Given the description of an element on the screen output the (x, y) to click on. 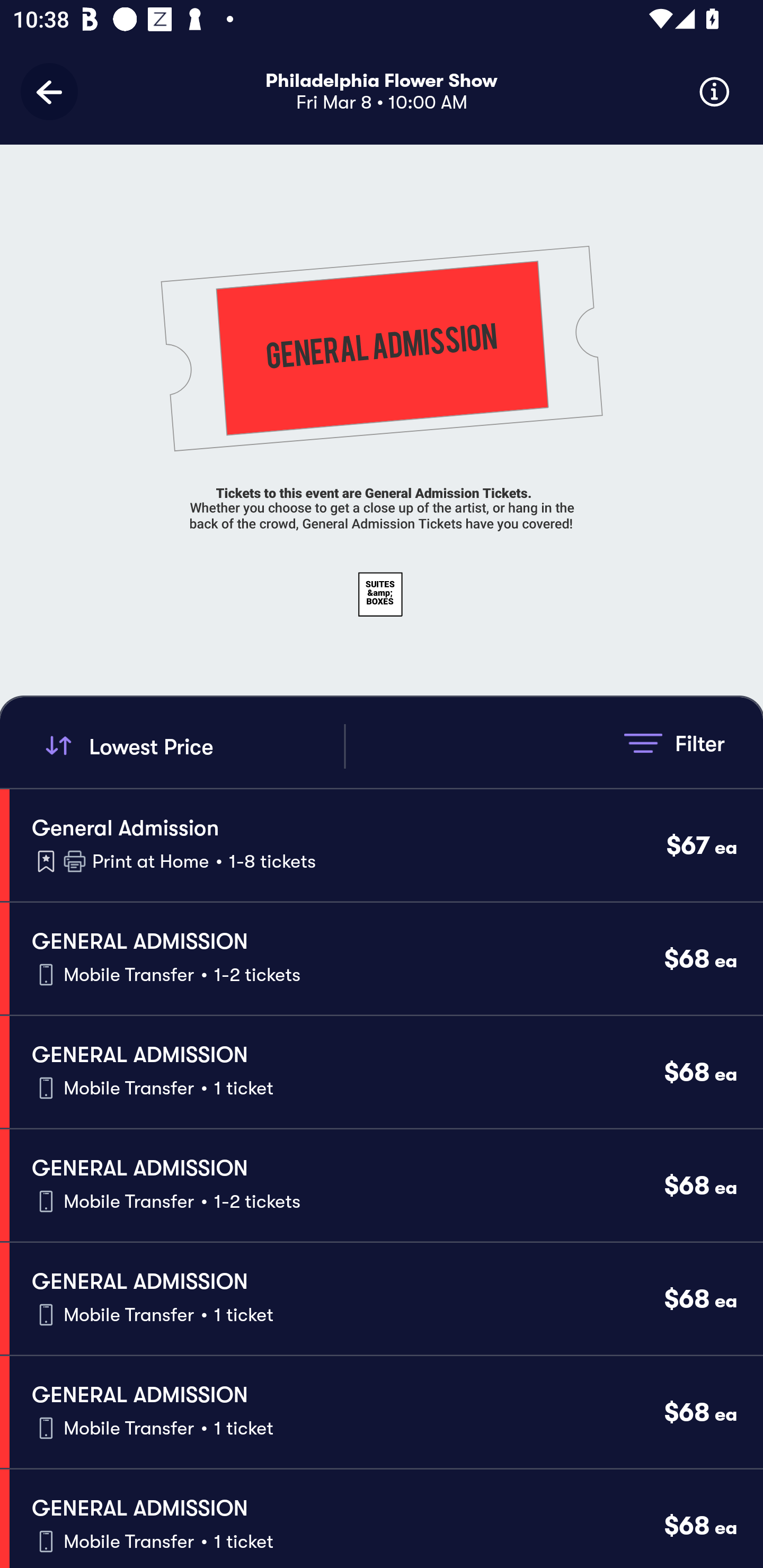
Lowest Price (191, 746)
Filter (674, 743)
